Given the description of an element on the screen output the (x, y) to click on. 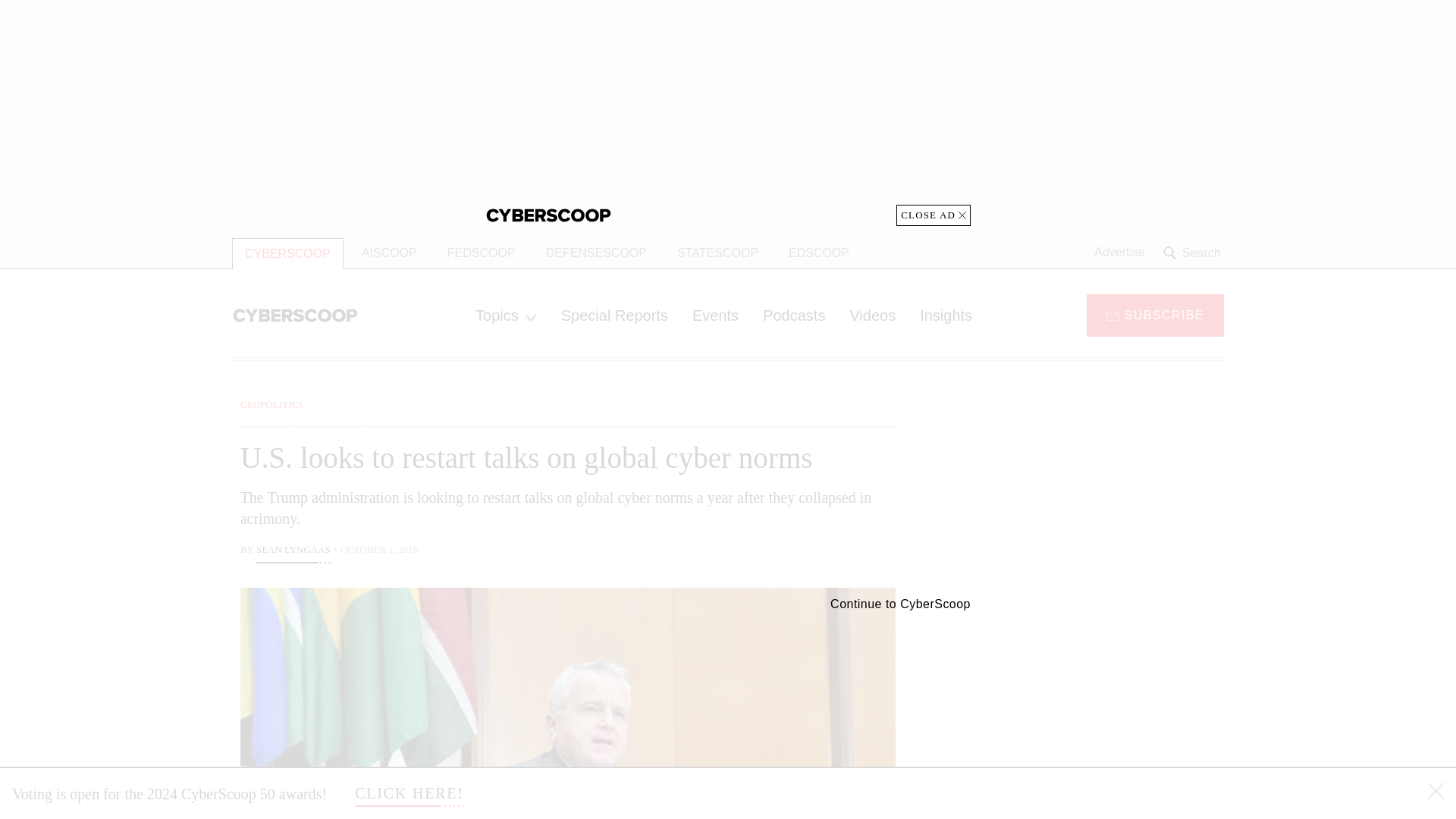
Search (1193, 252)
DEFENSESCOOP (596, 253)
CLICK HERE! (409, 793)
3rd party ad content (1101, 705)
Special Reports (613, 315)
CYBERSCOOP (287, 253)
Advertise (1119, 252)
